Given the description of an element on the screen output the (x, y) to click on. 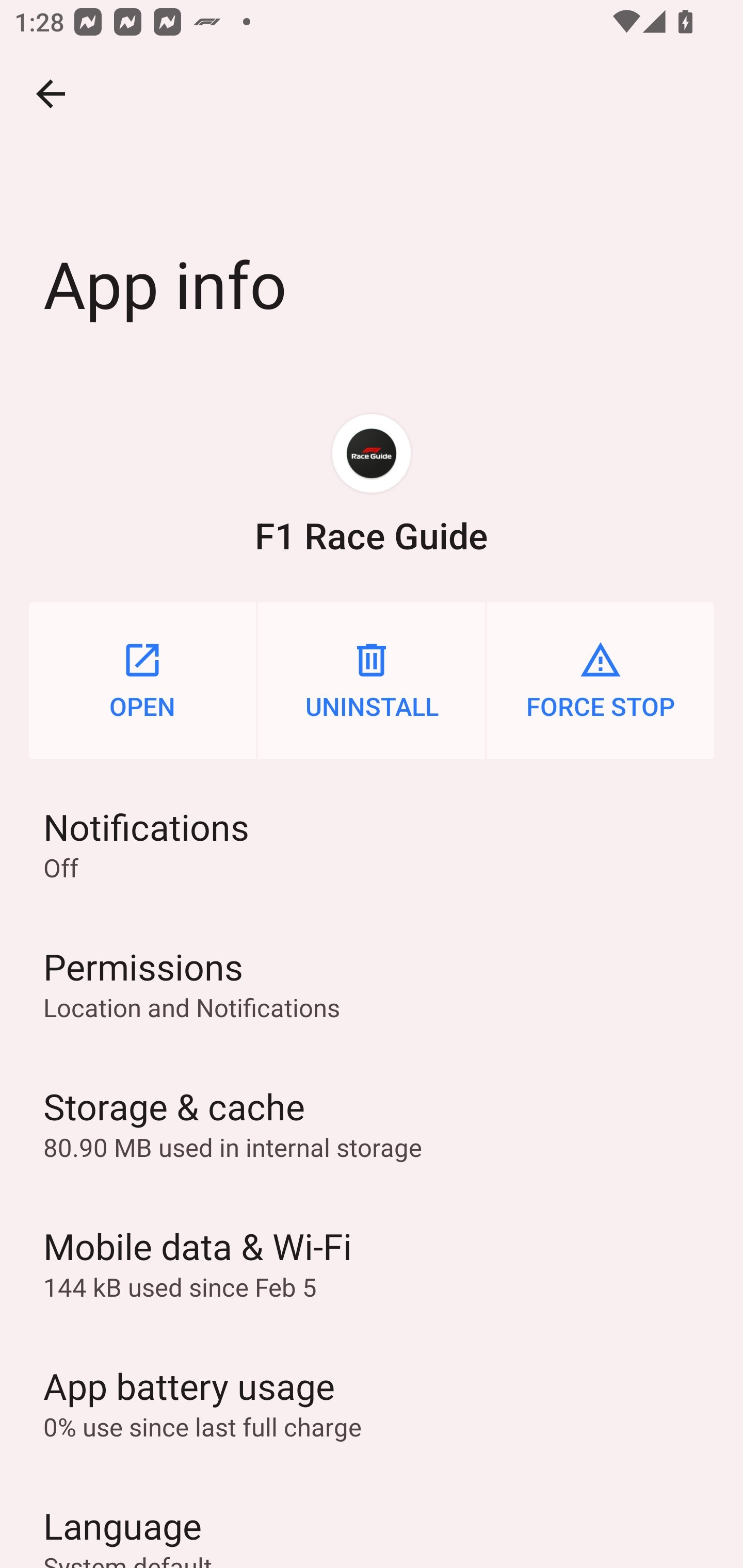
Navigate up (50, 93)
OPEN (141, 680)
UNINSTALL (371, 680)
FORCE STOP (600, 680)
Notifications Off (371, 843)
Permissions Location and Notifications (371, 983)
Storage & cache 80.90 MB used in internal storage (371, 1123)
Mobile data & Wi‑Fi 144 kB used since Feb 5 (371, 1262)
App battery usage 0% use since last full charge (371, 1402)
Language System default (371, 1520)
